Given the description of an element on the screen output the (x, y) to click on. 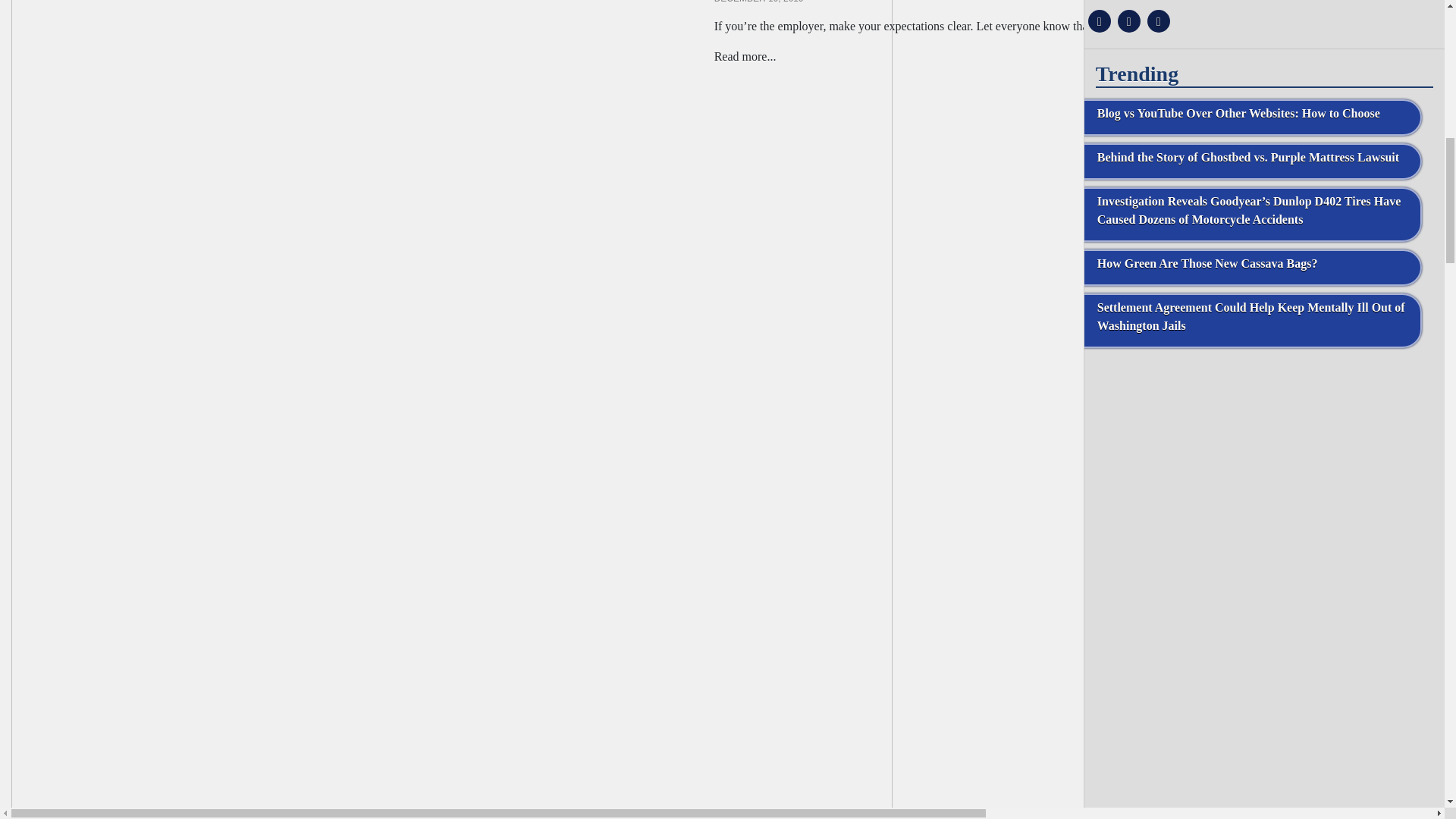
Read more... (745, 56)
